Given the description of an element on the screen output the (x, y) to click on. 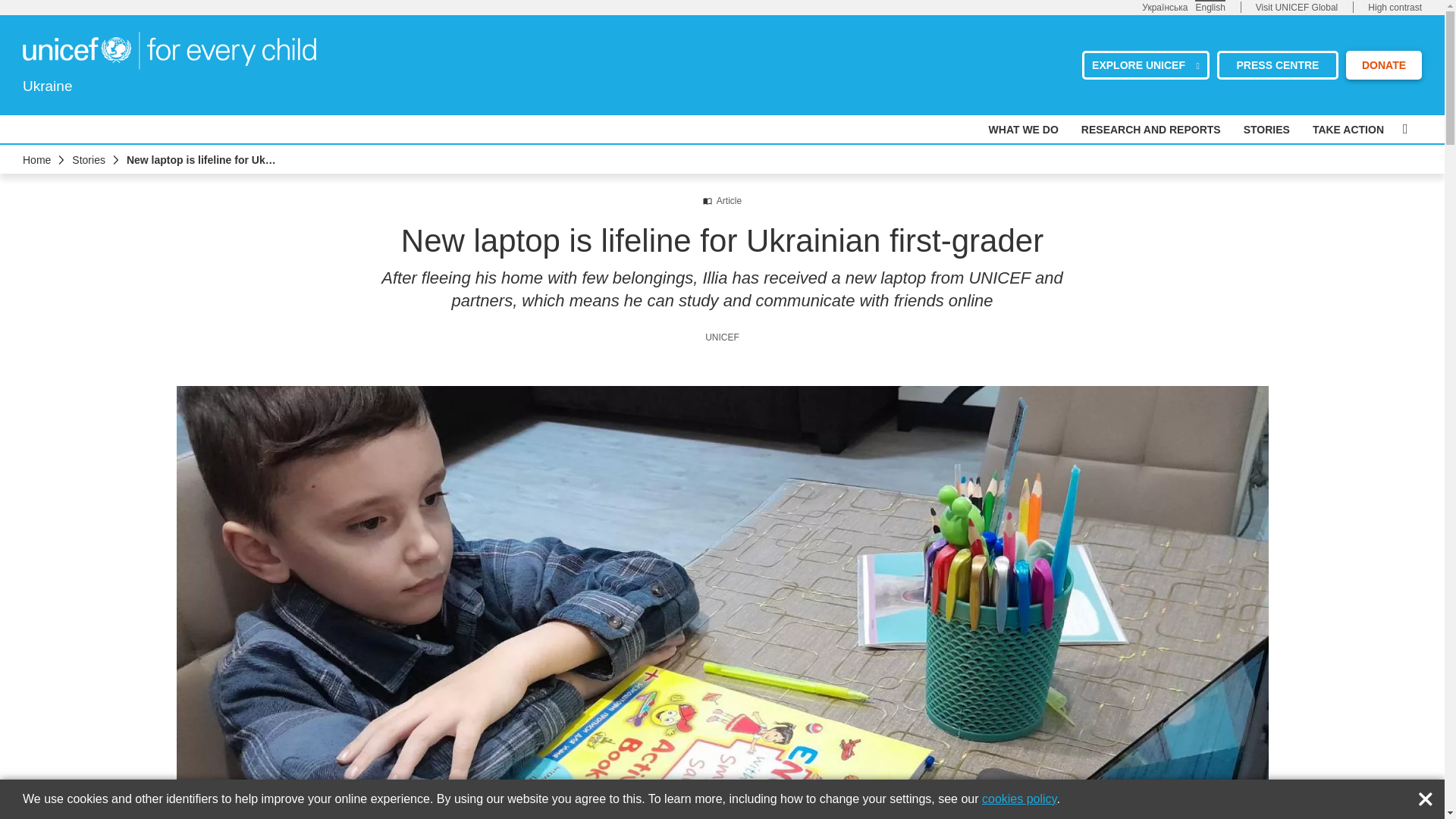
RESEARCH AND REPORTS (1151, 129)
EXPLORE UNICEF (1145, 63)
TAKE ACTION (1348, 129)
STORIES (1266, 129)
High contrast (1395, 7)
Visit UNICEF Global (1296, 7)
DONATE (1383, 63)
EXPLORE UNICEF (1145, 63)
Home (36, 159)
Ukraine (169, 50)
